Given the description of an element on the screen output the (x, y) to click on. 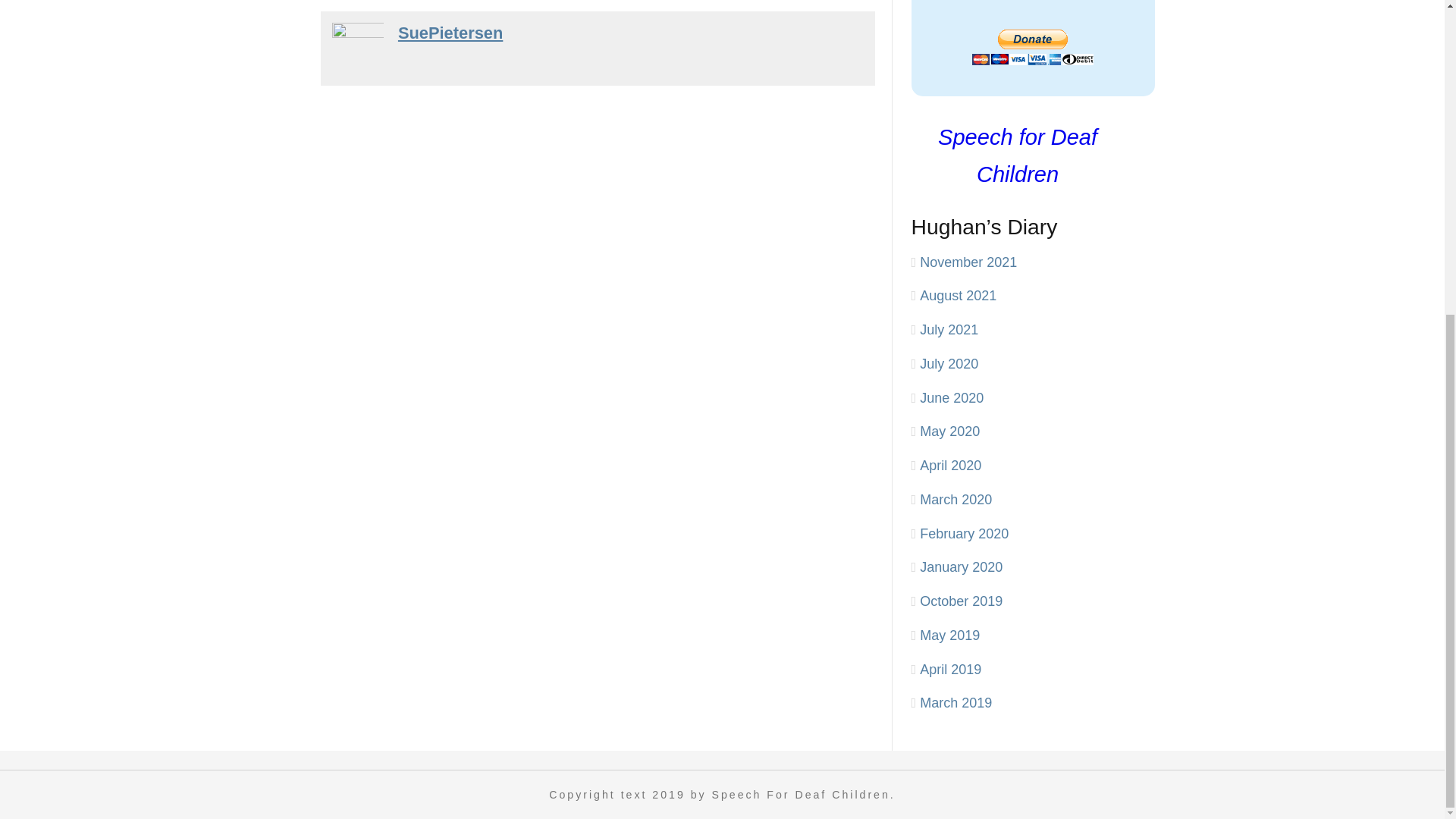
PayPal - The safer, easier way to pay online! (1032, 47)
July 2020 (949, 363)
January 2020 (961, 566)
October 2019 (961, 601)
April 2020 (950, 465)
June 2020 (952, 397)
March 2020 (955, 499)
SuePietersen (449, 32)
April 2019 (950, 669)
March 2019 (955, 702)
